Given the description of an element on the screen output the (x, y) to click on. 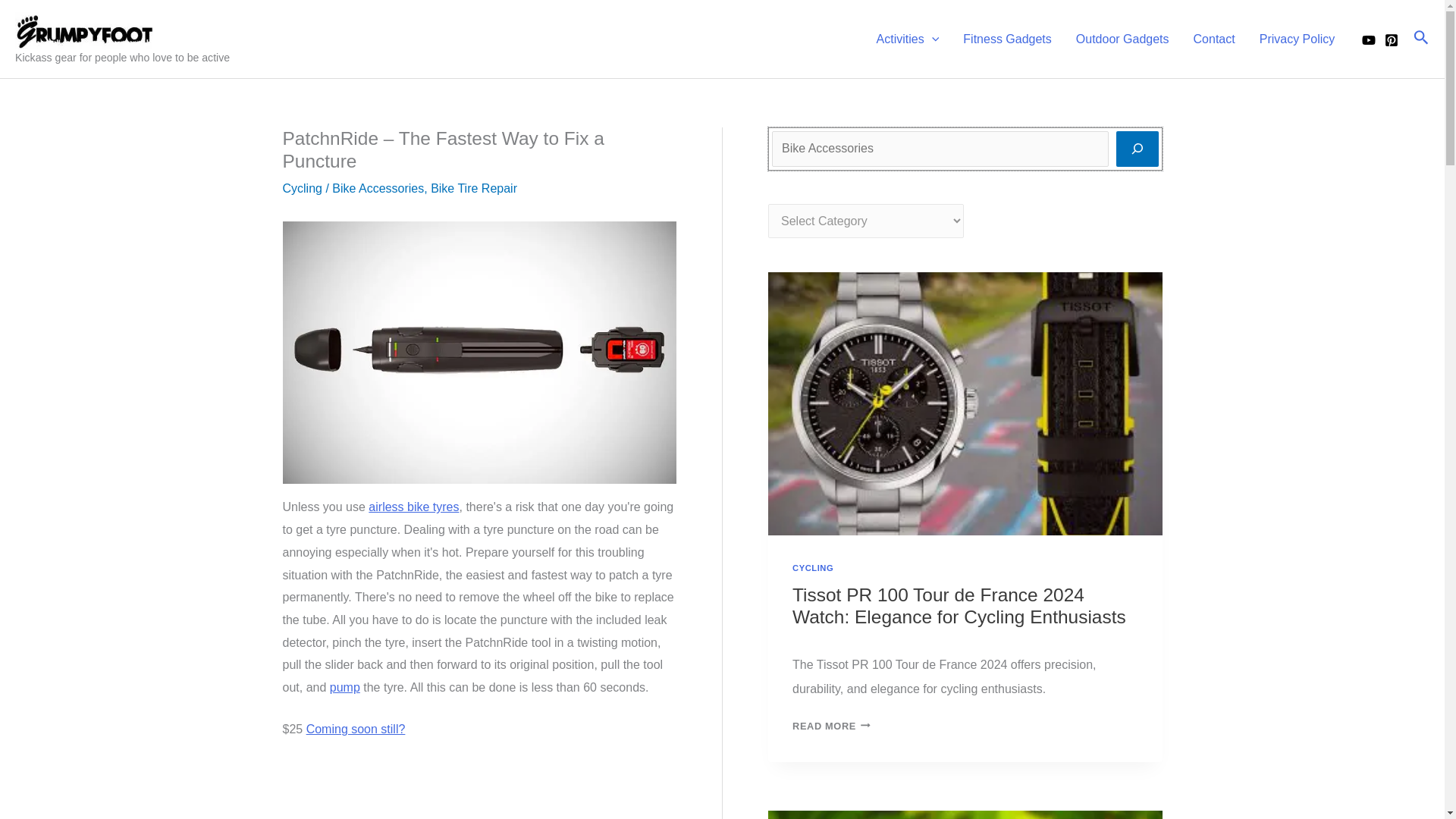
Bicycle Flat Tire Repair - patchnride video (479, 789)
Activities (908, 39)
